Given the description of an element on the screen output the (x, y) to click on. 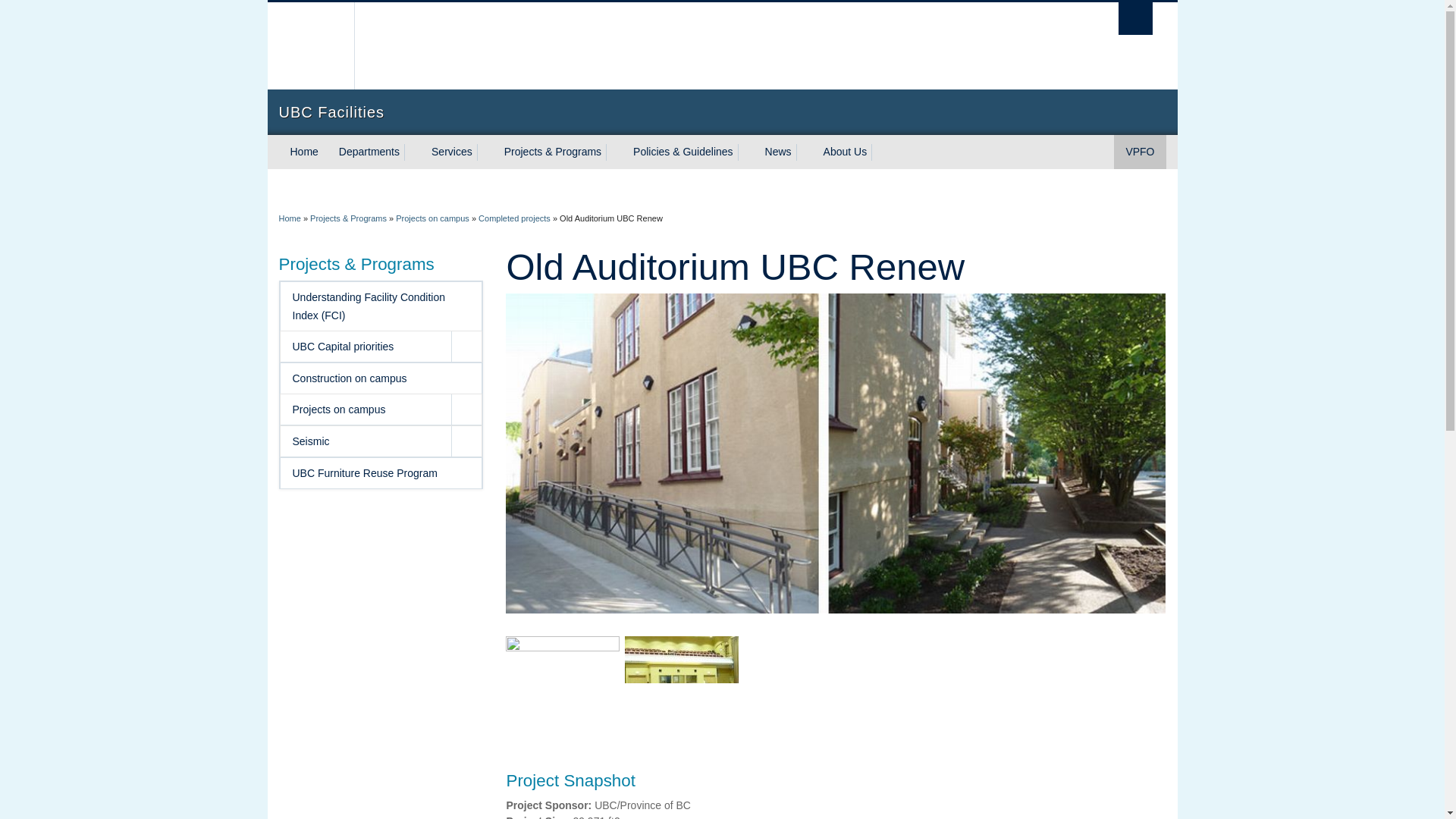
UBC Facilities (290, 217)
Services (449, 151)
UBC Search (1135, 18)
The University of British Columbia (309, 45)
Completed projects (514, 217)
Projects on campus (432, 217)
Departments (367, 151)
UBC Facilities (722, 112)
The University of British Columbia (635, 45)
UBC Facilities (722, 112)
Home (304, 151)
